Given the description of an element on the screen output the (x, y) to click on. 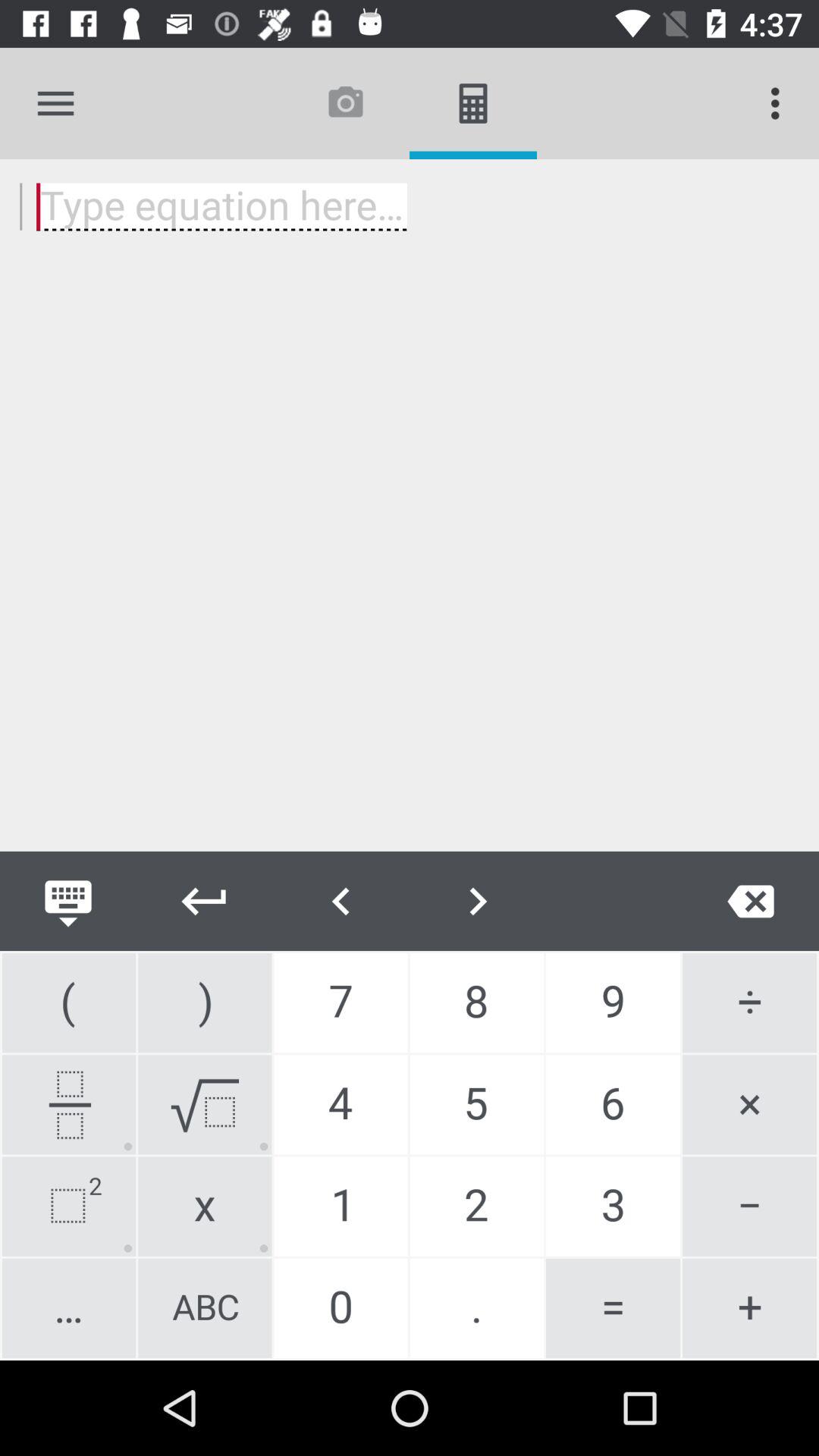
open settings (55, 103)
